Given the description of an element on the screen output the (x, y) to click on. 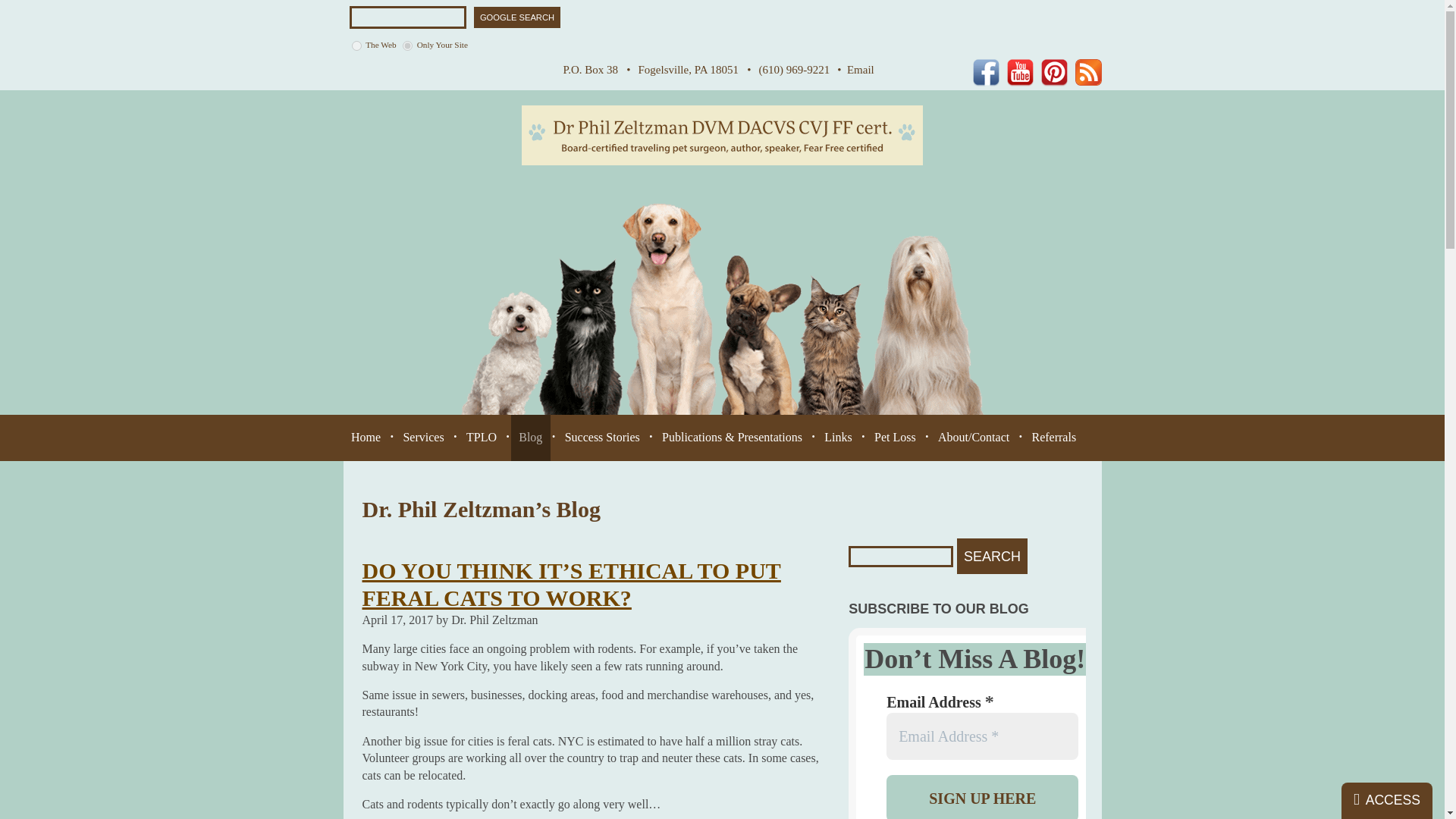
services (422, 437)
YouTube (1020, 72)
Services (422, 437)
Google Search (517, 16)
ACCESS (1386, 800)
Pinterest (1054, 72)
Blog (1088, 71)
TPLO (480, 437)
Google Search (517, 16)
home (365, 437)
